Given the description of an element on the screen output the (x, y) to click on. 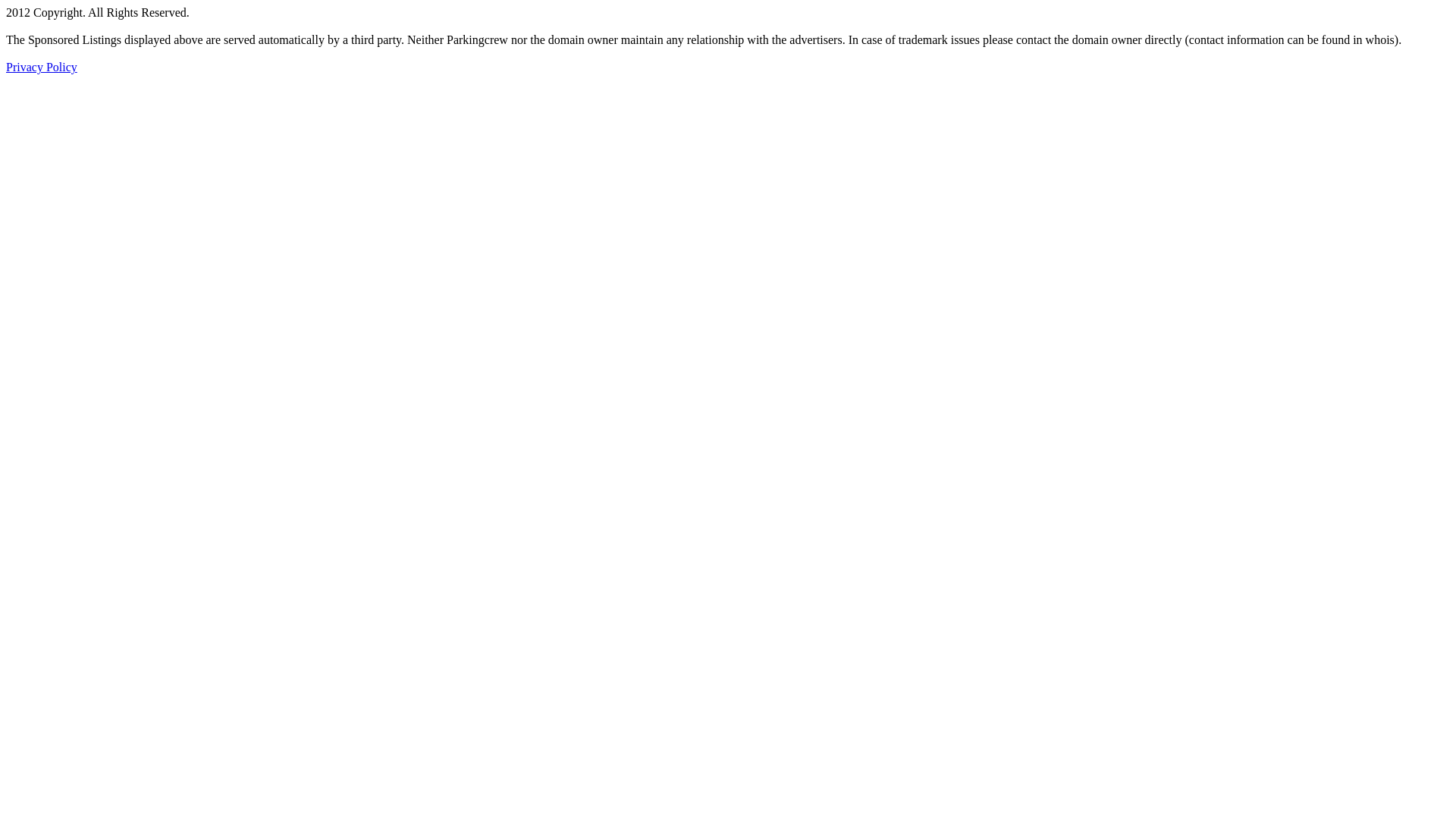
Privacy Policy Element type: text (41, 66)
